Given the description of an element on the screen output the (x, y) to click on. 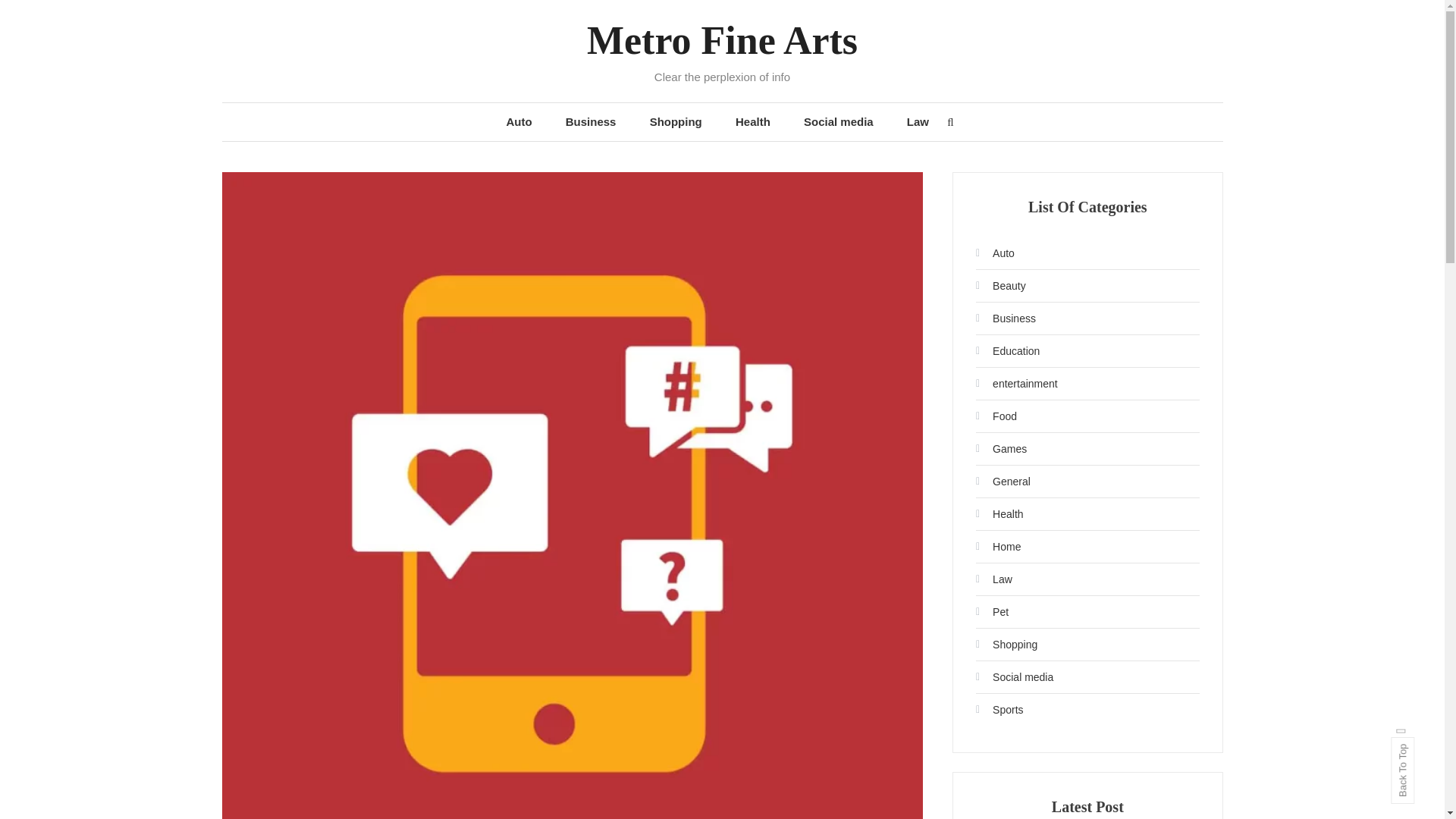
Auto (994, 252)
Search (768, 432)
Law (993, 579)
Shopping (675, 121)
Business (590, 121)
Social media (1013, 677)
Auto (518, 121)
Metro Fine Arts (721, 40)
Beauty (1000, 285)
Games (1000, 448)
Social media (838, 121)
Sports (999, 709)
Law (917, 121)
Shopping (1005, 644)
Business (1005, 318)
